Given the description of an element on the screen output the (x, y) to click on. 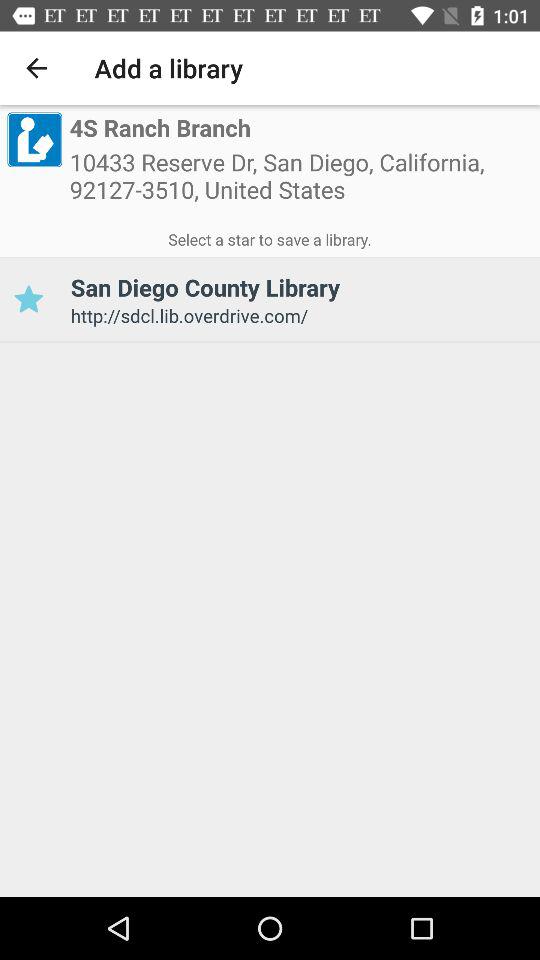
turn on item below 10433 reserve dr (269, 236)
